Given the description of an element on the screen output the (x, y) to click on. 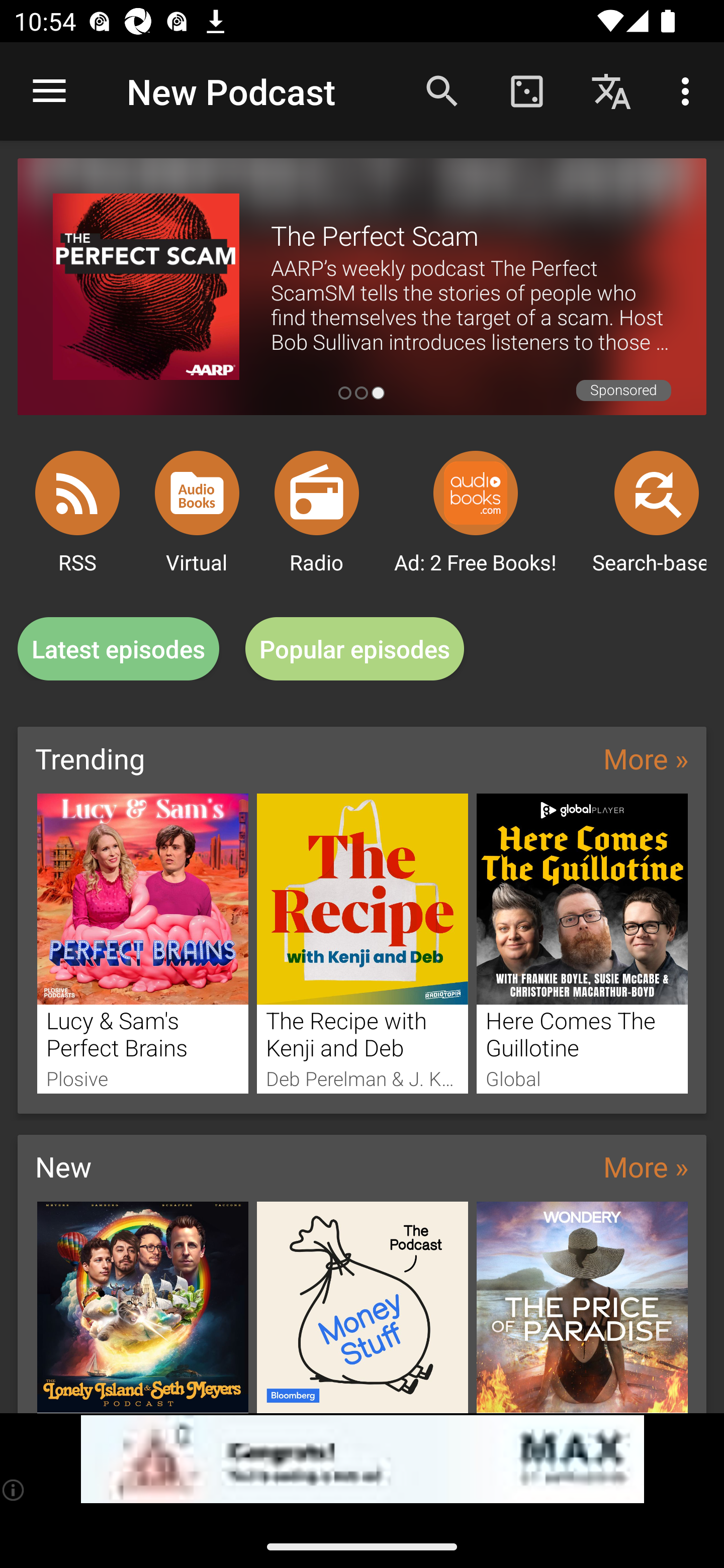
Open navigation sidebar (49, 91)
Search (442, 90)
Random pick (526, 90)
Podcast languages (611, 90)
More options (688, 90)
RSS (77, 492)
Virtual (196, 492)
Radio (316, 492)
Search-based (656, 492)
Latest episodes (118, 648)
Popular episodes (354, 648)
More » (645, 757)
Lucy & Sam's Perfect Brains Plosive (142, 942)
Here Comes The Guillotine Global (581, 942)
More » (645, 1166)
The Lonely Island and Seth Meyers Podcast (142, 1306)
Money Stuff: The Podcast (362, 1306)
The Price of Paradise (581, 1306)
app-monetization (362, 1459)
(i) (14, 1489)
